Given the description of an element on the screen output the (x, y) to click on. 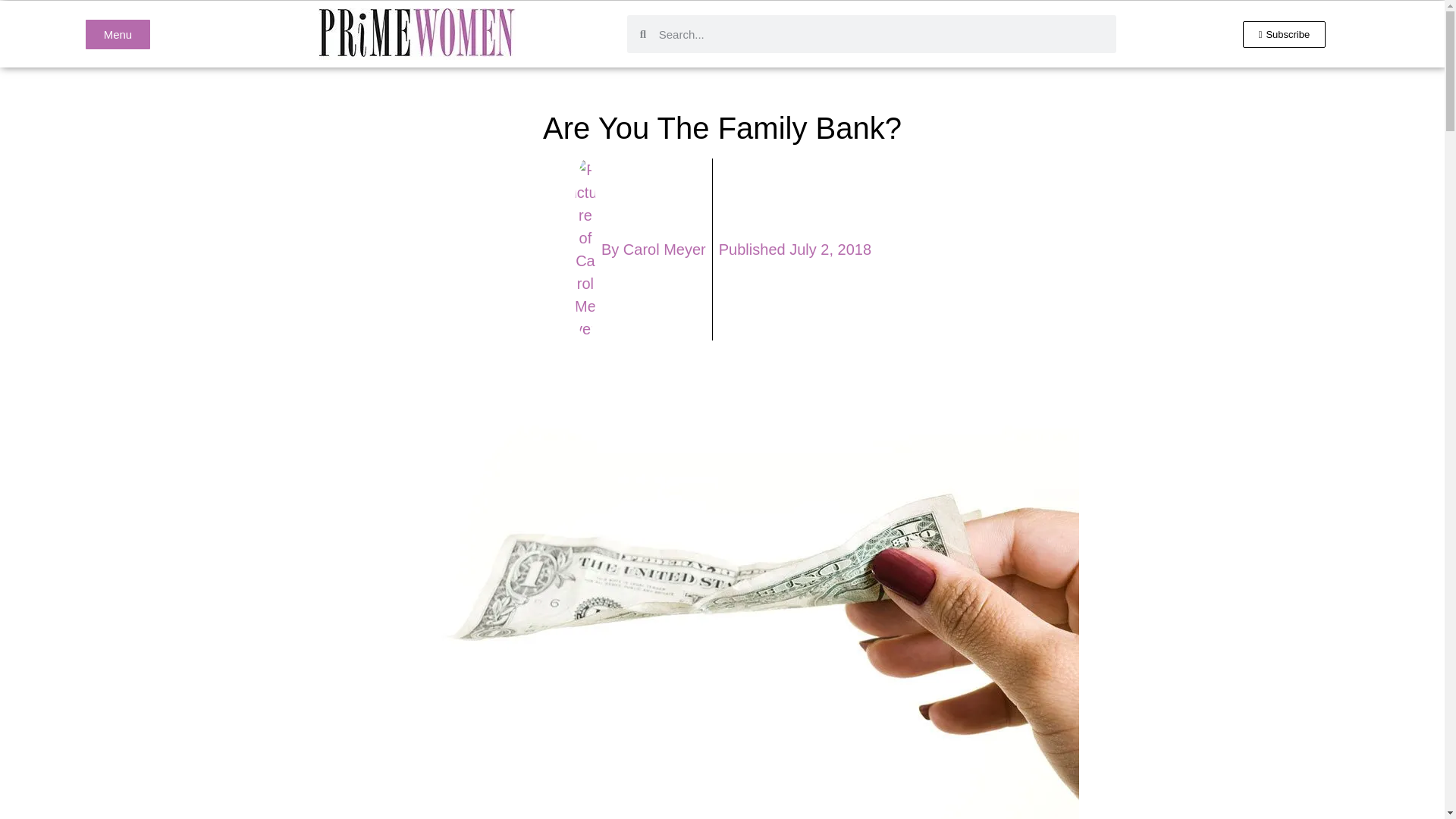
Subscribe (1284, 34)
Menu (118, 34)
Published July 2, 2018 (794, 249)
